Given the description of an element on the screen output the (x, y) to click on. 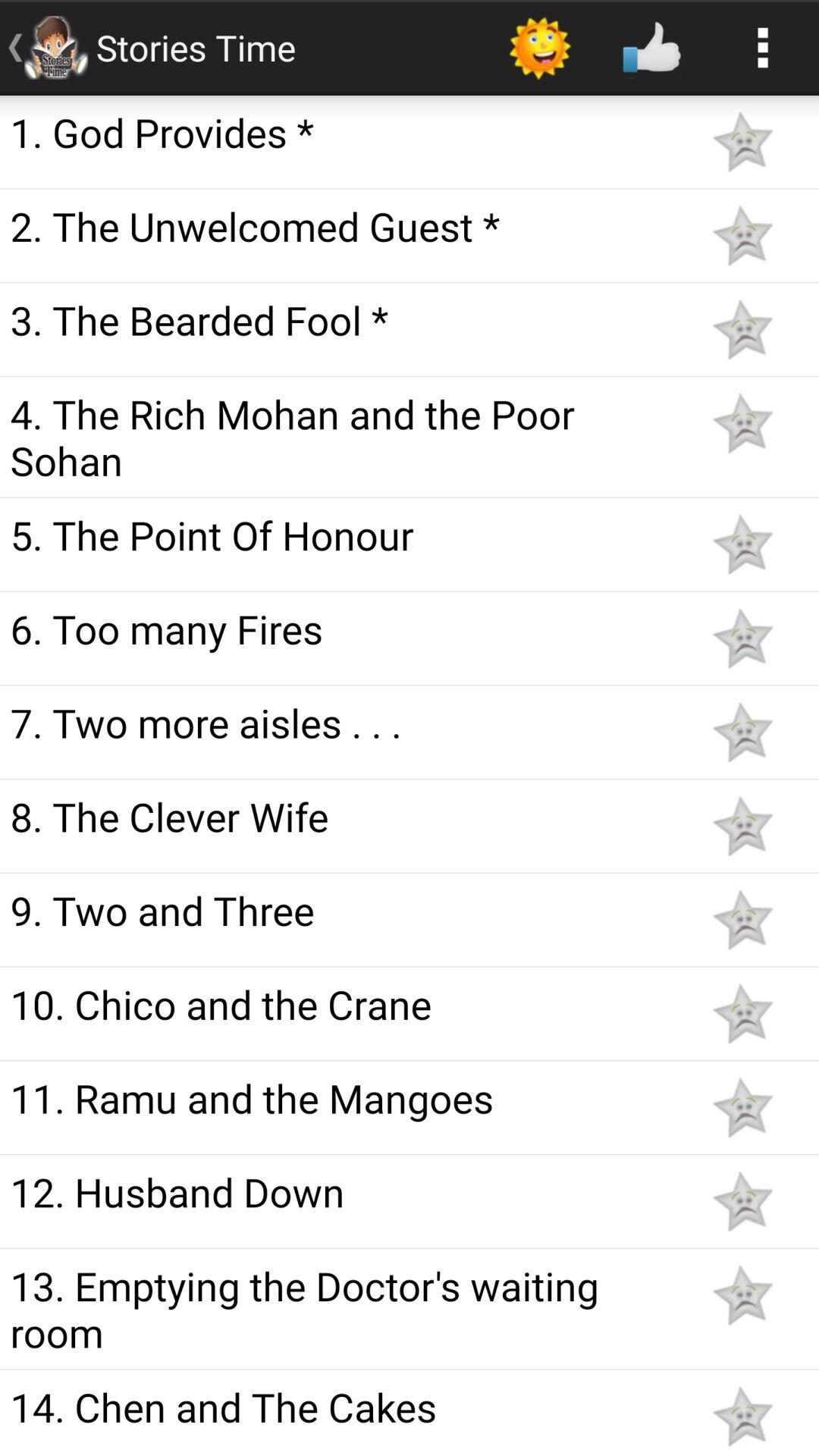
favorite a story (742, 329)
